Given the description of an element on the screen output the (x, y) to click on. 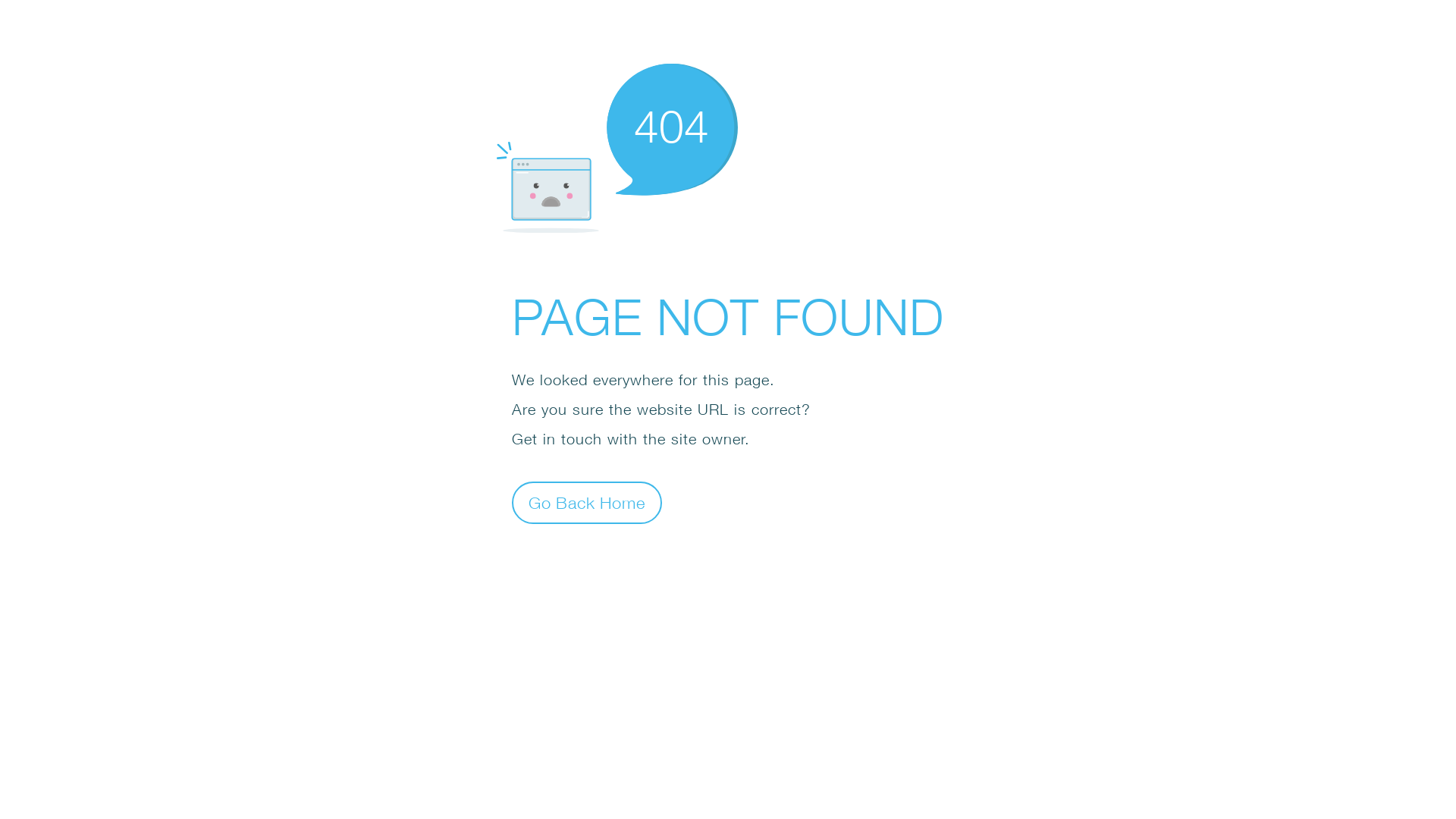
Go Back Home Element type: text (586, 502)
